Given the description of an element on the screen output the (x, y) to click on. 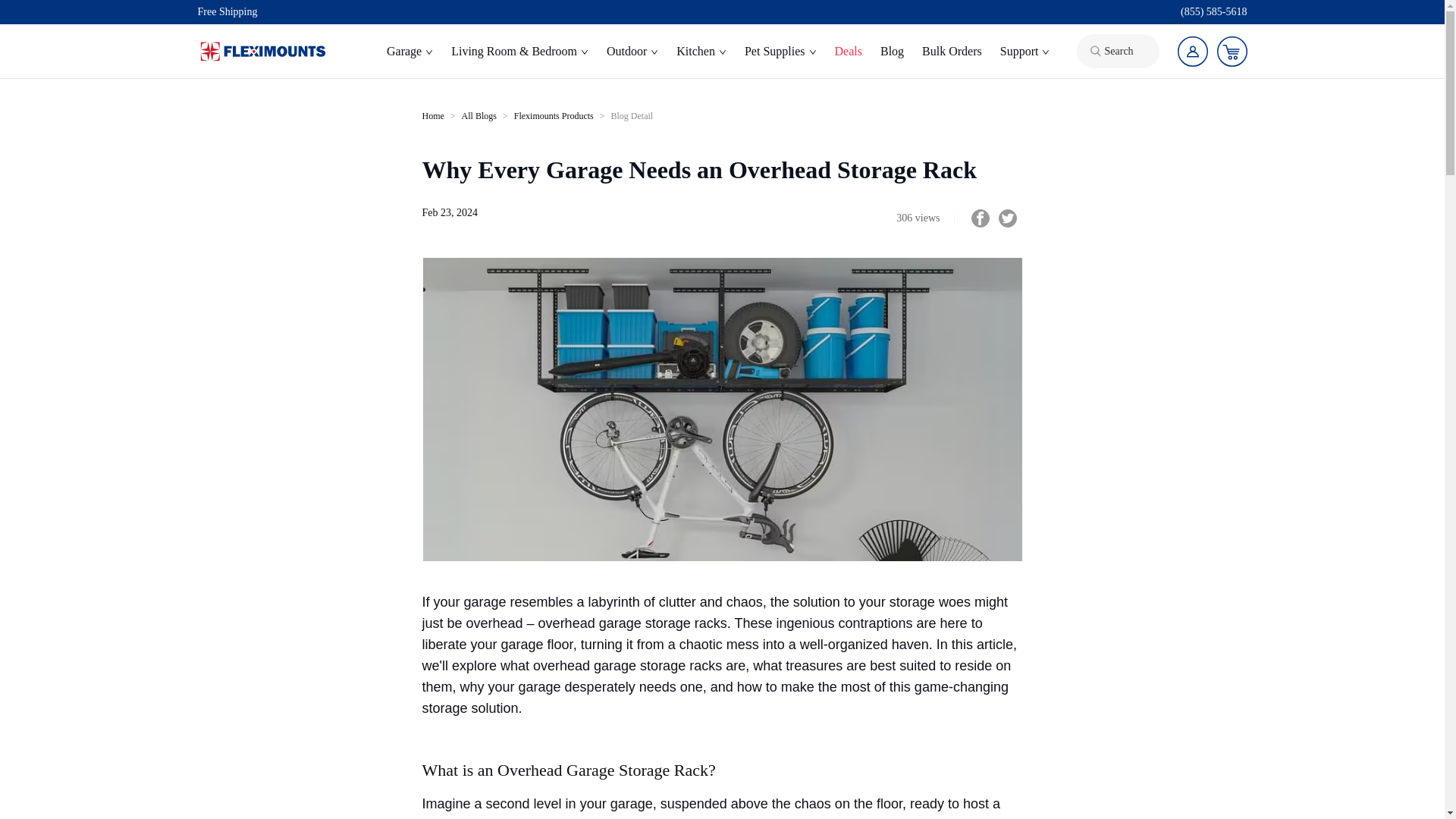
Garage (409, 51)
Kitchen (700, 51)
Blog (891, 51)
Deals (848, 51)
Pet Supplies (780, 51)
All Blogs (478, 115)
Fleximounts Products (553, 115)
Home (433, 115)
Bulk Orders (952, 51)
Outdoor (631, 51)
